Given the description of an element on the screen output the (x, y) to click on. 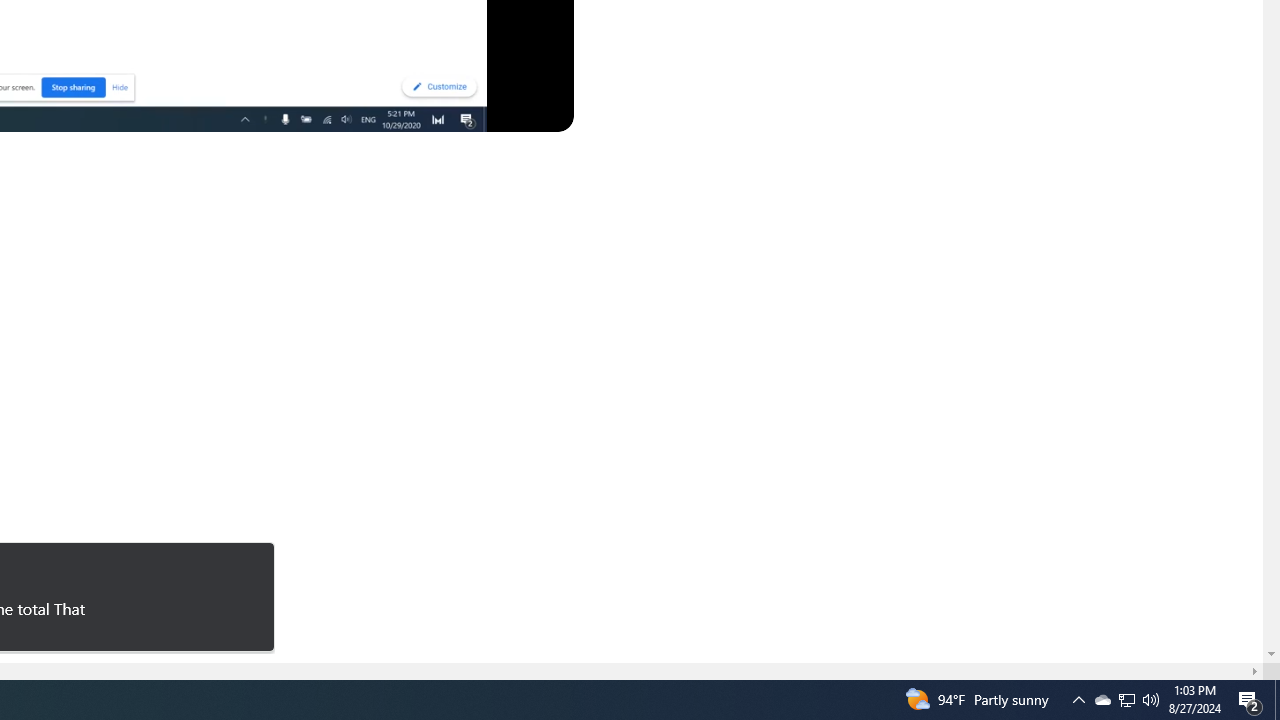
Full screen (f) (540, 111)
Watch on YouTube (488, 111)
Settings (433, 111)
Subtitles/closed captions unavailable (393, 111)
